Given the description of an element on the screen output the (x, y) to click on. 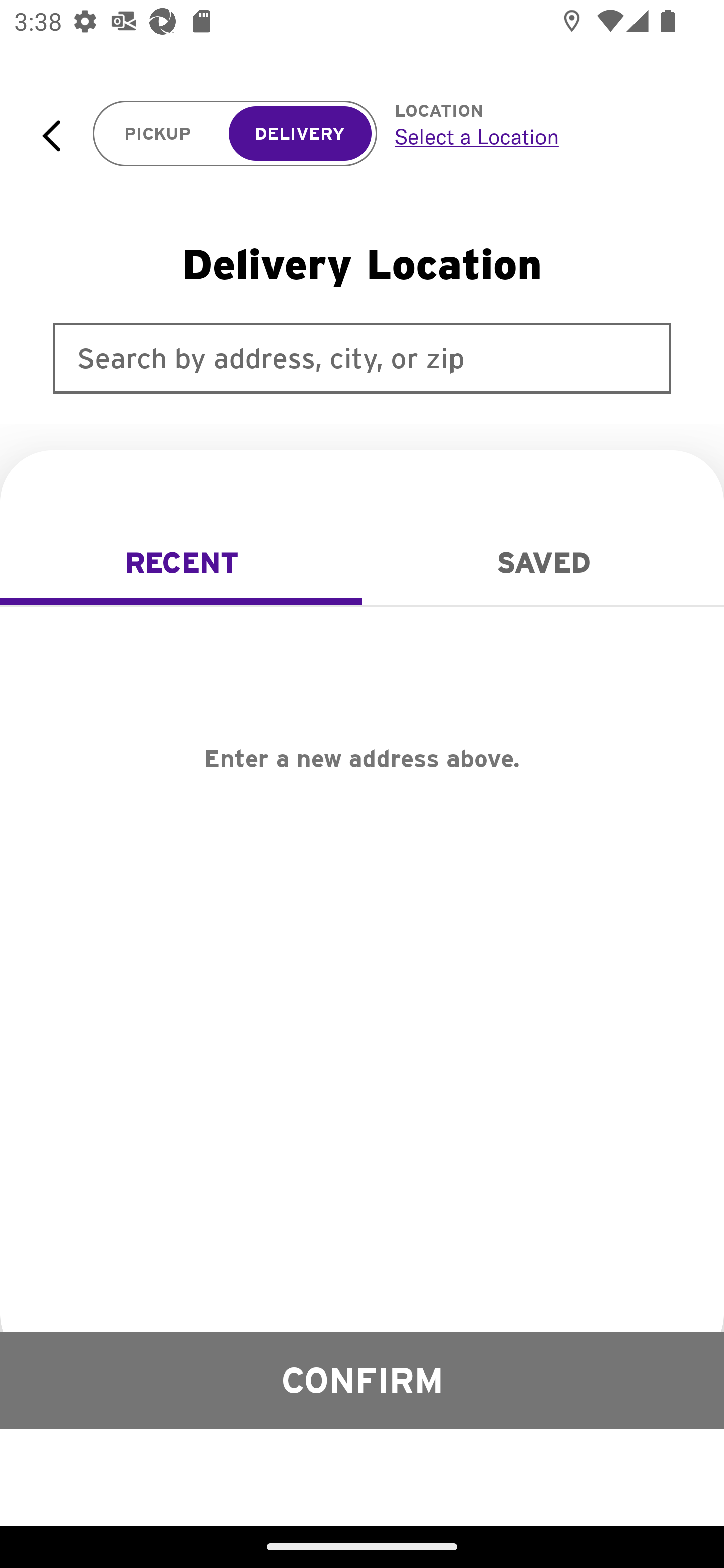
PICKUP (157, 133)
DELIVERY (299, 133)
Select a Location (536, 136)
Search by address, city, or zip (361, 358)
Saved SAVED (543, 562)
CONFIRM (362, 1379)
